Given the description of an element on the screen output the (x, y) to click on. 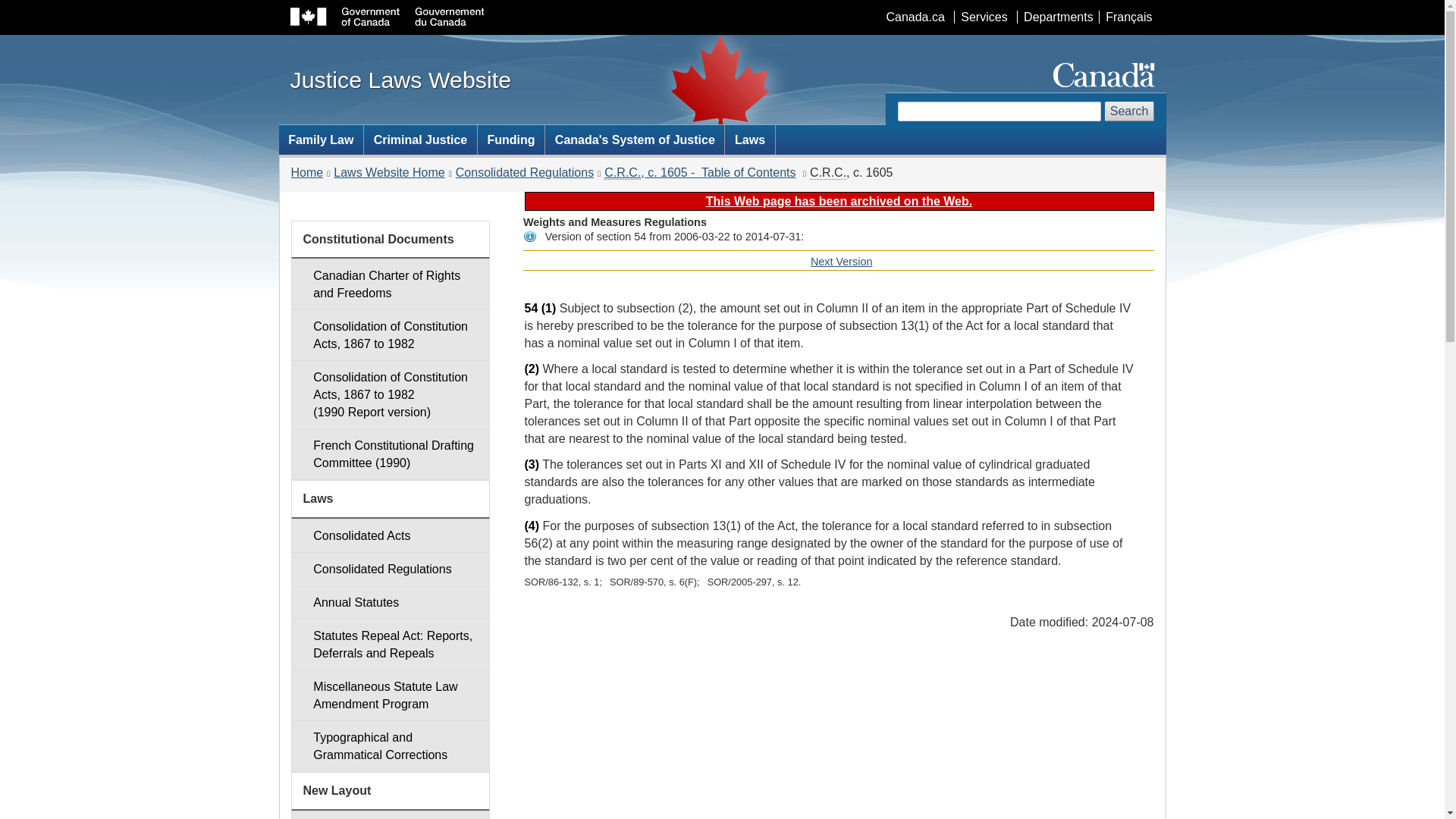
Annual Statutes (390, 602)
54 (531, 308)
Statutes Repeal Act: Reports, Deferrals and Repeals (390, 644)
Miscellaneous Statute Law Amendment Program (390, 695)
This Web page has been archived on the Web. (839, 201)
Laws Website Home (388, 172)
Consolidated Acts (390, 535)
Skip to main content (725, 11)
Typographical and Grammatical Corrections (390, 746)
Canada's System of Justice (633, 139)
